Given the description of an element on the screen output the (x, y) to click on. 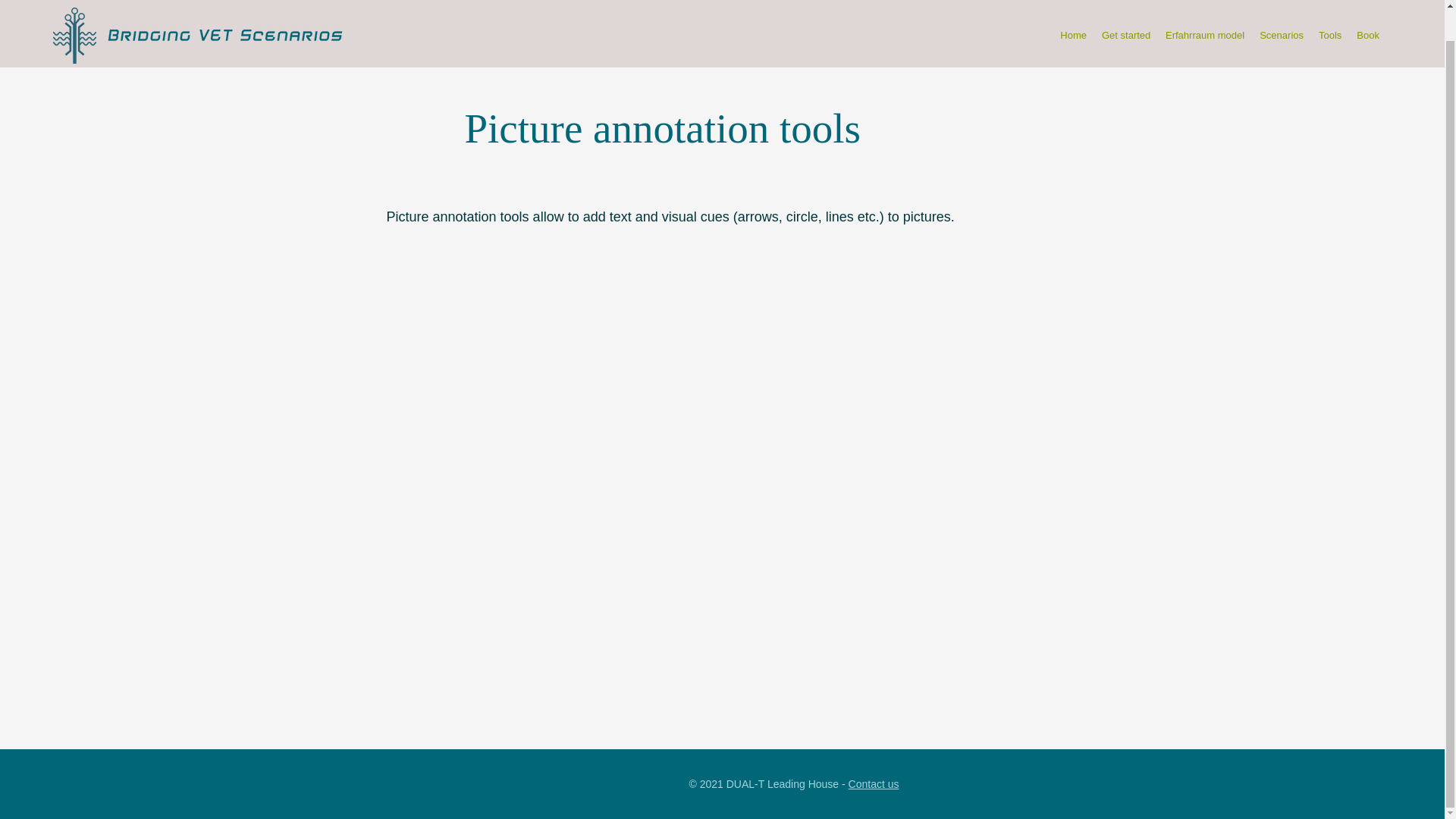
Erfahrraum model (1204, 7)
Fichier 1.png (74, 15)
Get started (1125, 7)
Contact us (873, 784)
Book (1368, 7)
Tools (1330, 7)
Home (1073, 7)
